Given the description of an element on the screen output the (x, y) to click on. 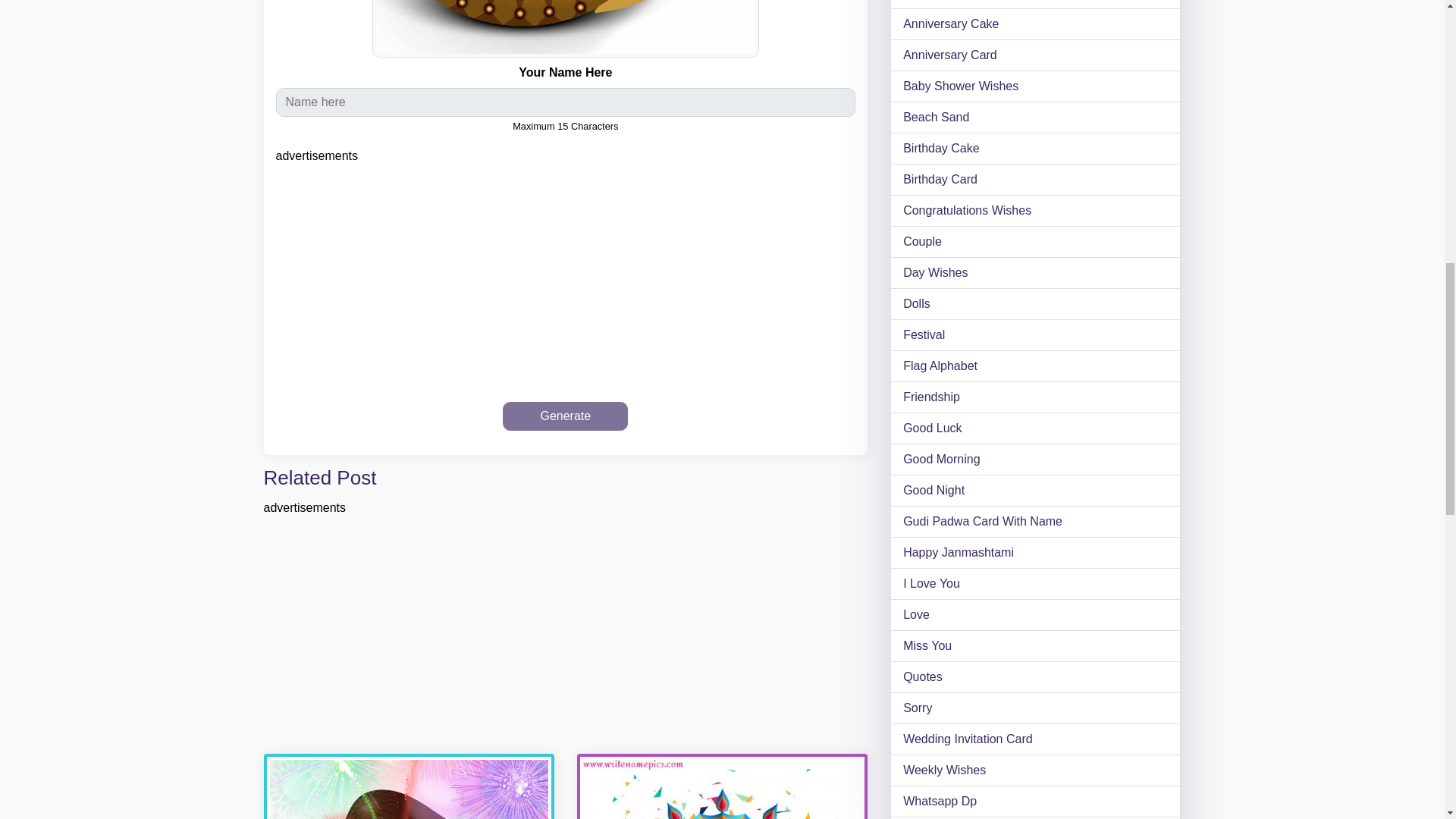
Advertisement (565, 635)
Anniversary Cake (1034, 24)
Generate (564, 416)
Baby Shower Wishes (1034, 85)
Generate (564, 416)
happy diwali wishes 2020 card with name edit (408, 786)
happy diwali greeting card with name photo (721, 786)
Advertisement (566, 283)
Anniversary Card (1034, 54)
